Given the description of an element on the screen output the (x, y) to click on. 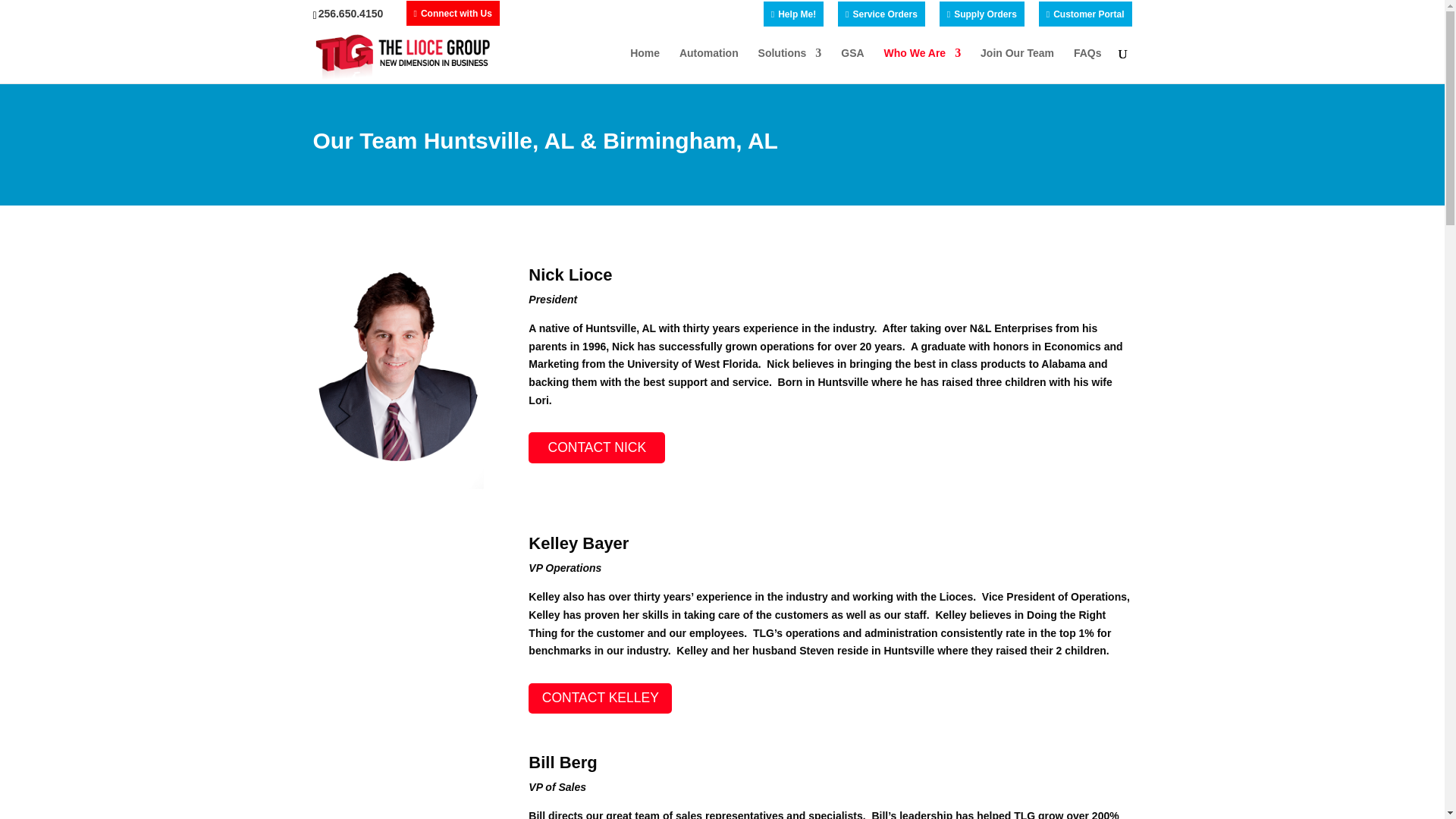
Help Me! (793, 17)
Solutions (790, 65)
Join Our Team (1016, 65)
Supply Orders (981, 17)
Connect with Us (452, 16)
Automation (708, 65)
CONTACT KELLEY (599, 698)
Service Orders (881, 17)
CONTACT NICK (596, 447)
Who We Are (921, 65)
